Given the description of an element on the screen output the (x, y) to click on. 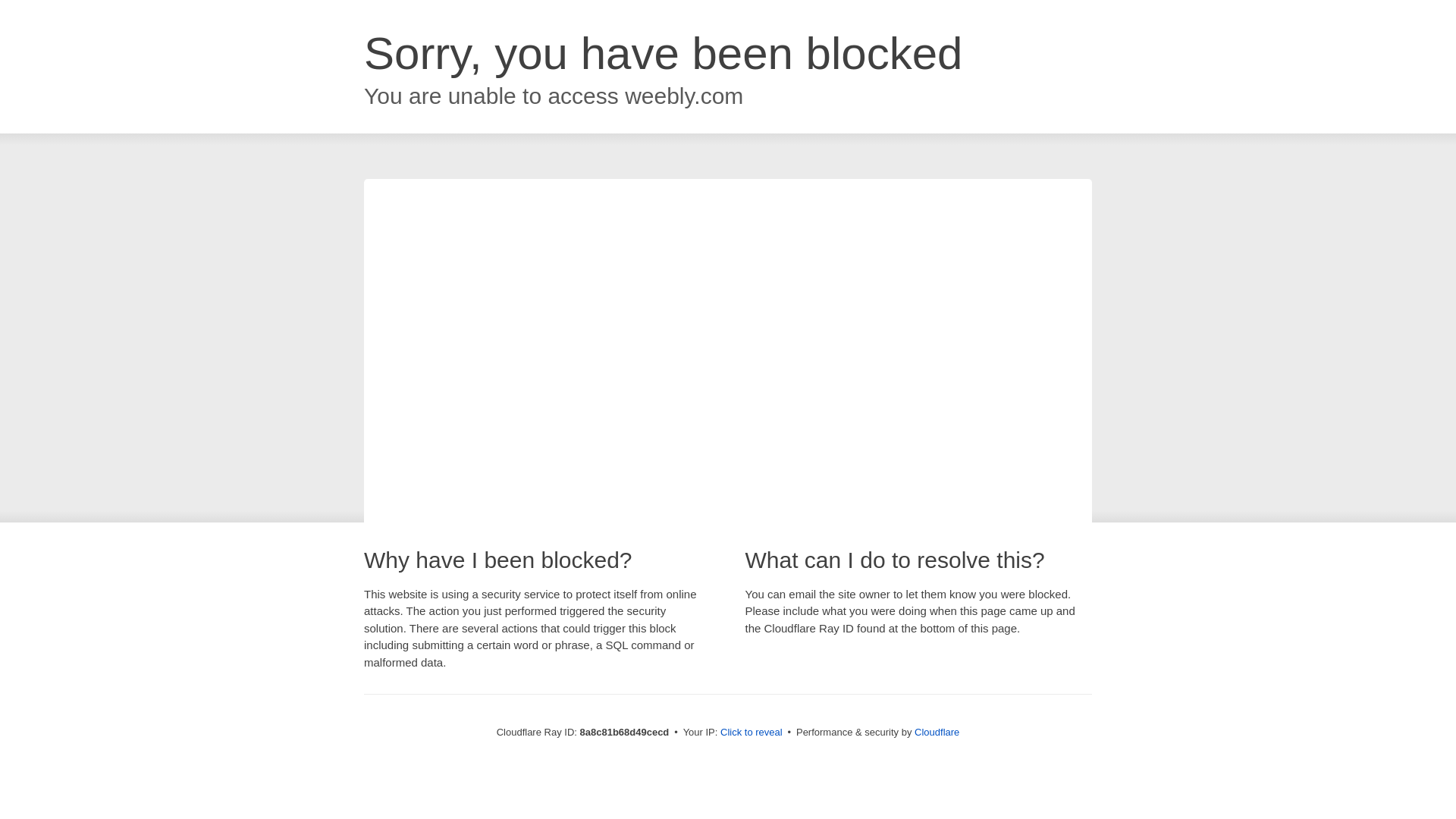
Click to reveal (751, 732)
Cloudflare (936, 731)
